Given the description of an element on the screen output the (x, y) to click on. 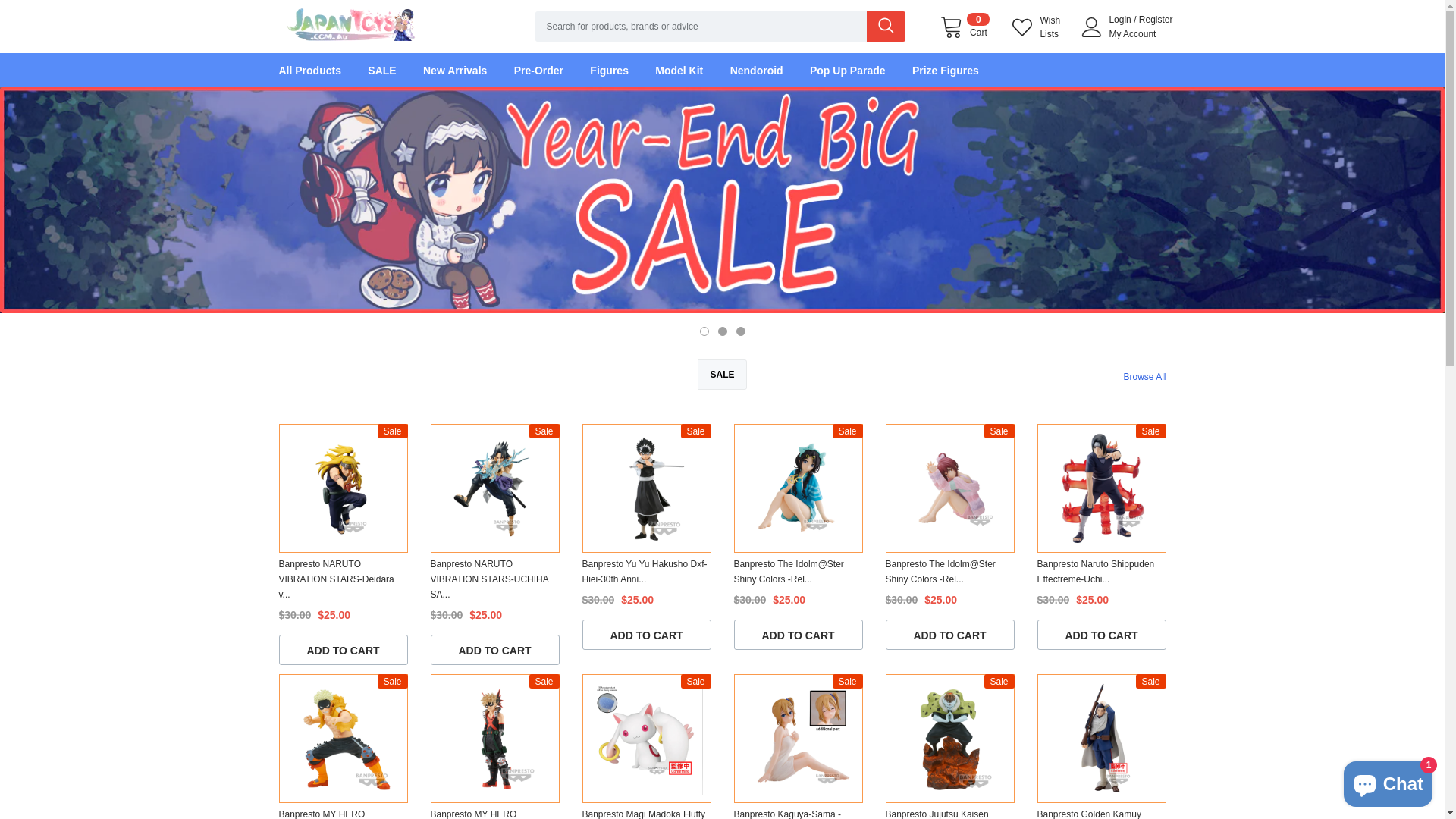
Banpresto NARUTO VIBRATION STARS-Deidara v... Element type: text (343, 579)
2 Element type: text (721, 330)
New Arrivals Element type: text (467, 70)
3 Element type: text (739, 330)
ADD TO CART Element type: text (949, 634)
Shopify online store chat Element type: hover (1388, 780)
Register Element type: text (1156, 19)
Banpresto Naruto Shippuden Effectreme-Uchi... Element type: text (1101, 571)
User Icon Element type: hover (1091, 27)
Logo Element type: hover (350, 20)
1 Element type: text (703, 330)
Browse All Element type: text (1144, 376)
ADD TO CART Element type: text (646, 634)
Pre-Order Element type: text (550, 70)
All Products Element type: text (322, 70)
Login Element type: text (1120, 19)
Prize Figures Element type: text (957, 70)
Banpresto The Idolm@Ster Shiny Colors -Rel... Element type: text (798, 571)
Banpresto NARUTO VIBRATION STARS-UCHIHA SA... Element type: text (494, 579)
Banpresto The Idolm@Ster Shiny Colors -Rel... Element type: text (949, 571)
Figures Element type: text (620, 70)
ADD TO CART Element type: text (494, 649)
SALE Element type: text (721, 374)
ADD TO CART Element type: text (343, 649)
ADD TO CART Element type: text (798, 634)
Pop Up Parade Element type: text (859, 70)
Nendoroid Element type: text (768, 70)
SALE Element type: text (393, 70)
Wish Lists Element type: text (1038, 26)
ADD TO CART Element type: text (1101, 634)
Banpresto Yu Yu Hakusho Dxf-Hiei-30th Anni... Element type: text (646, 571)
My Account Element type: text (1131, 33)
/ Element type: text (1134, 19)
0
Cart Element type: text (964, 26)
Model Kit Element type: text (691, 70)
